Given the description of an element on the screen output the (x, y) to click on. 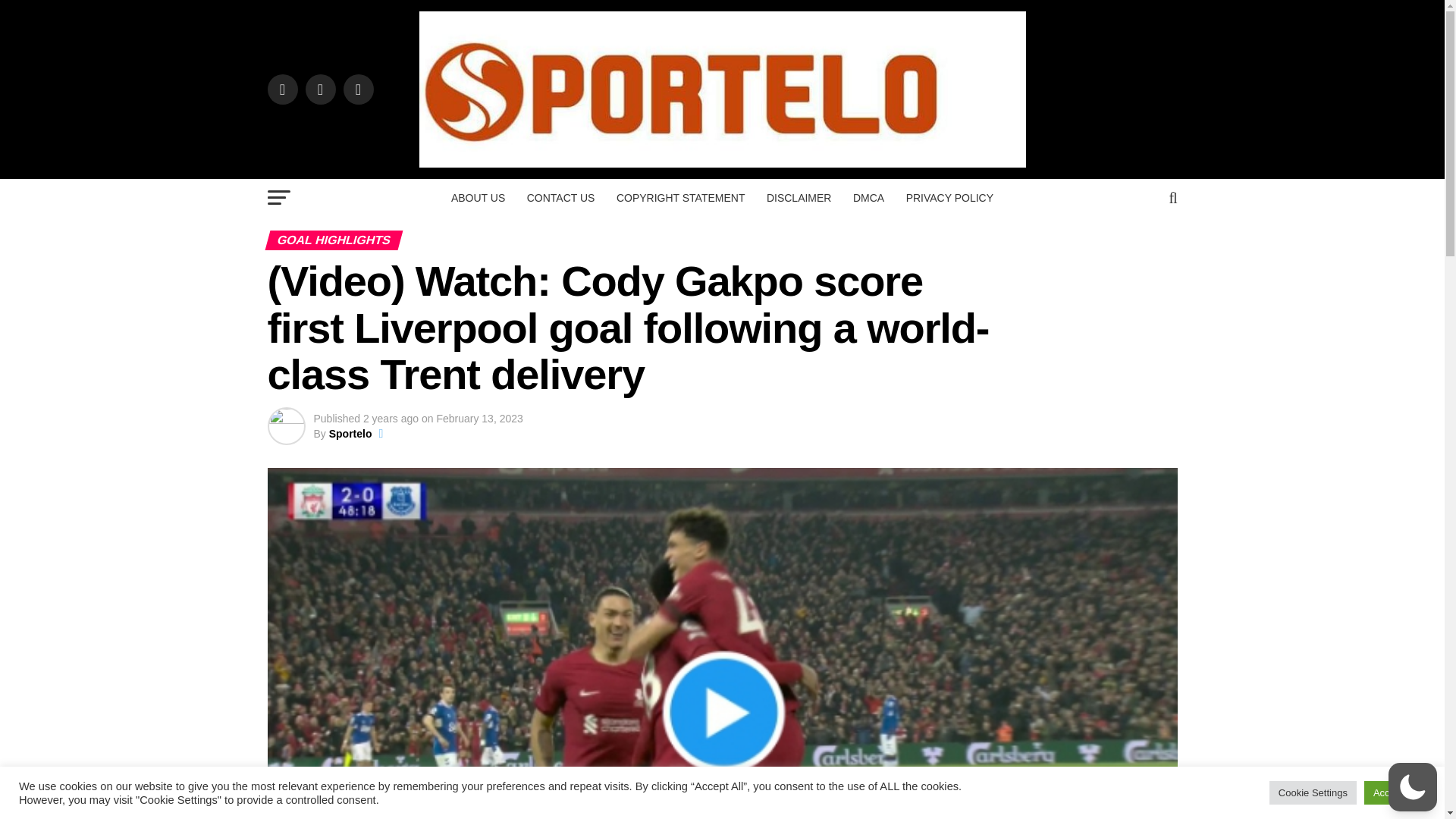
PRIVACY POLICY (949, 198)
Sportelo (350, 433)
DISCLAIMER (799, 198)
DMCA (868, 198)
COPYRIGHT STATEMENT (680, 198)
Posts by Sportelo (350, 433)
CONTACT US (561, 198)
ABOUT US (477, 198)
